Given the description of an element on the screen output the (x, y) to click on. 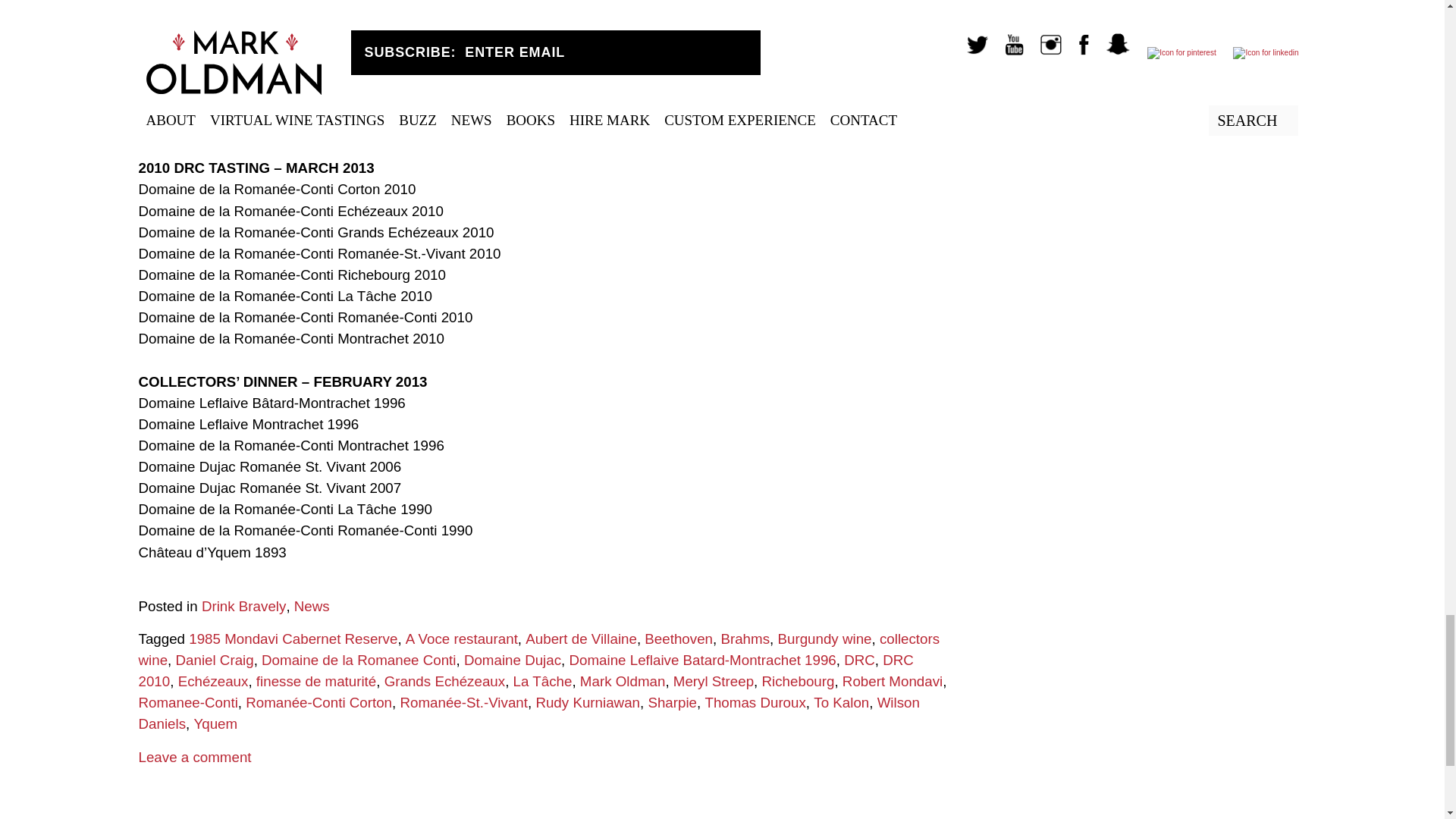
News (312, 606)
1985 Mondavi Cabernet Reserve (293, 638)
Drink Bravely (243, 606)
DRC empty cup (544, 29)
A Voce restaurant (462, 638)
